Given the description of an element on the screen output the (x, y) to click on. 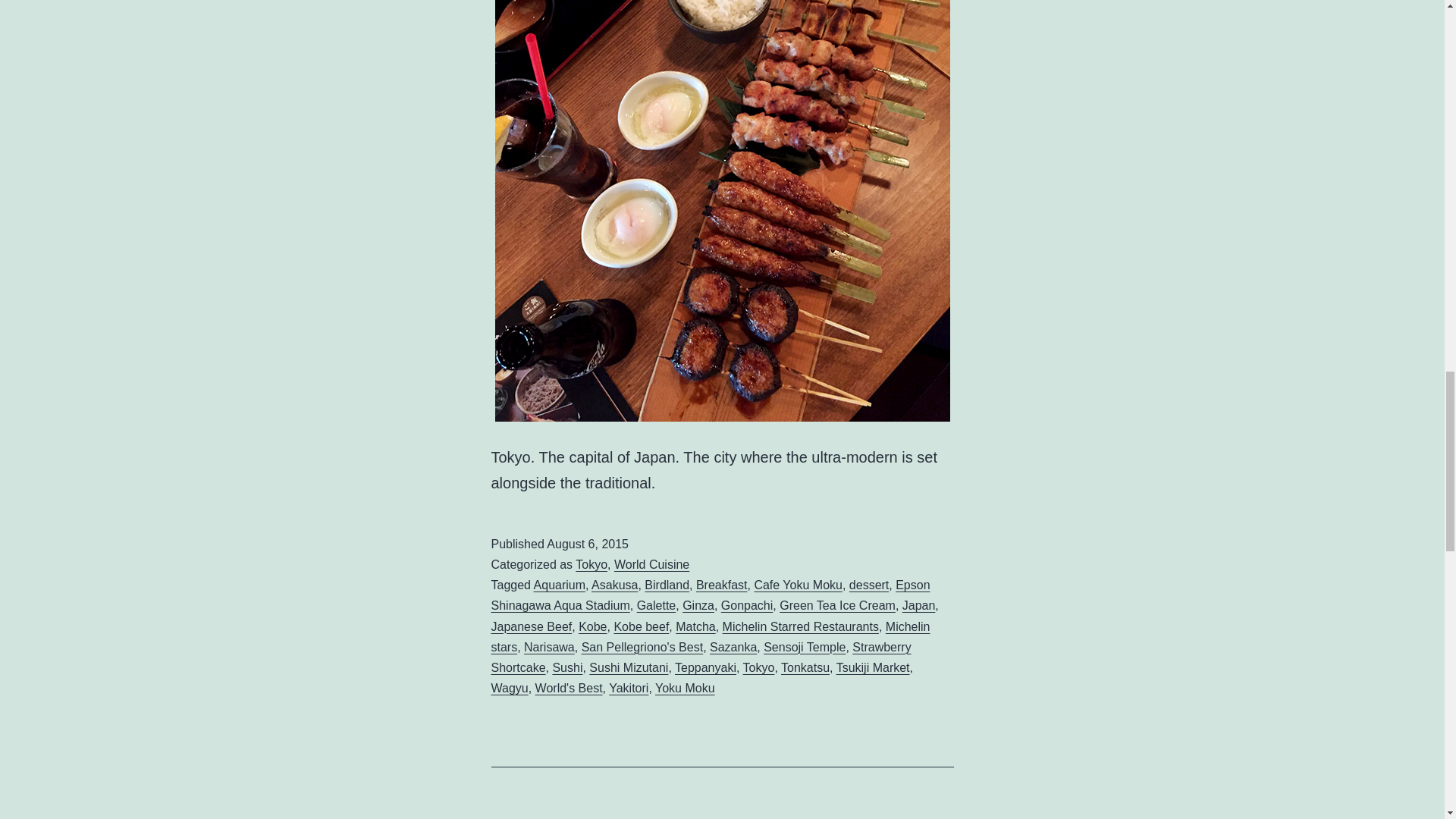
Breakfast (721, 584)
Birdland (666, 584)
Asakusa (614, 584)
World Cuisine (651, 563)
Epson Shinagawa Aqua Stadium (711, 594)
Tokyo (591, 563)
Galette (657, 604)
dessert (868, 584)
Cafe Yoku Moku (798, 584)
Aquarium (559, 584)
